Given the description of an element on the screen output the (x, y) to click on. 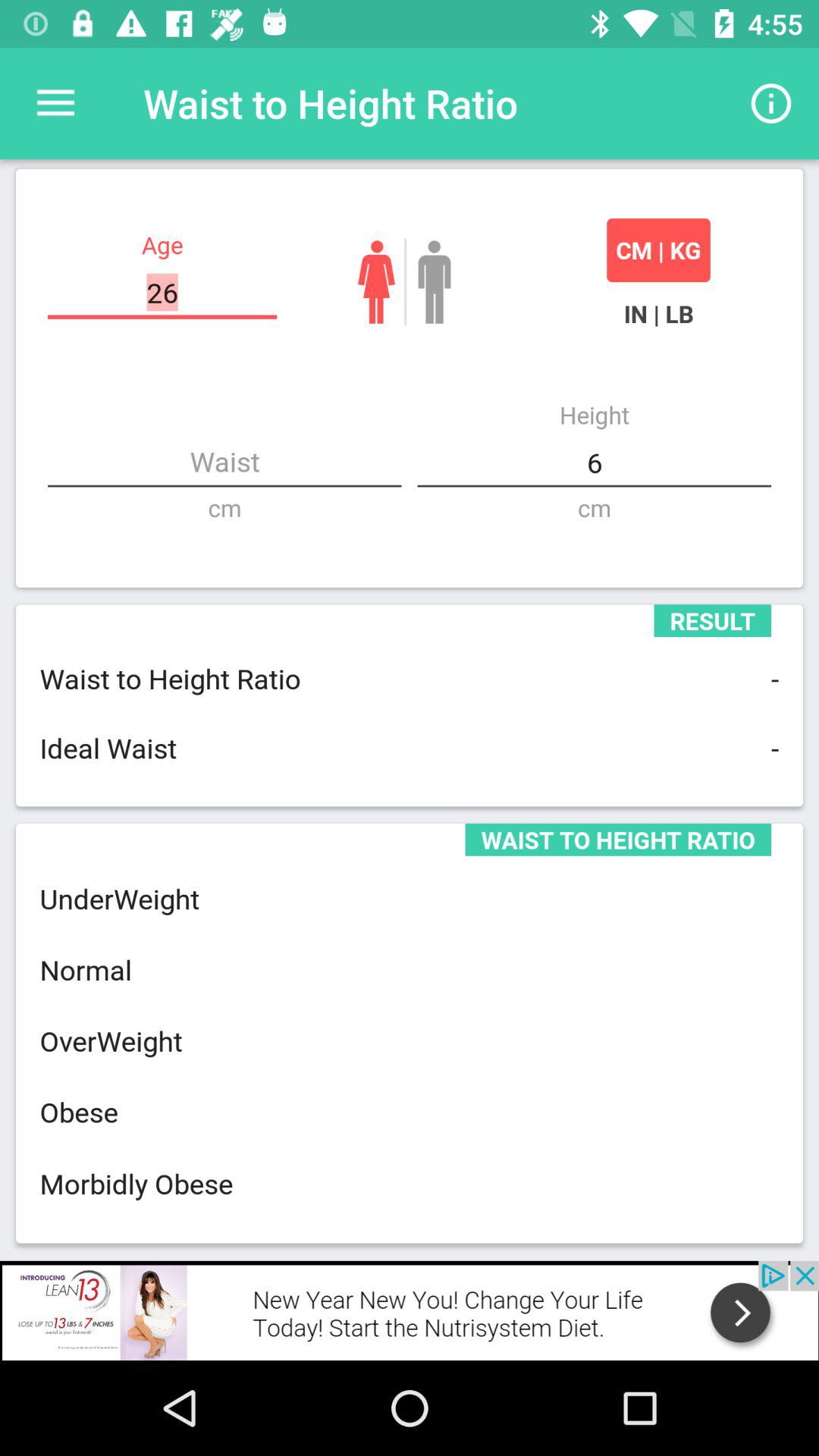
select the option which says inlb (658, 313)
select the women image right to age 26 (376, 282)
click on information icon at the top right corner (771, 103)
click on male button which is beside cm  kg (434, 282)
